Given the description of an element on the screen output the (x, y) to click on. 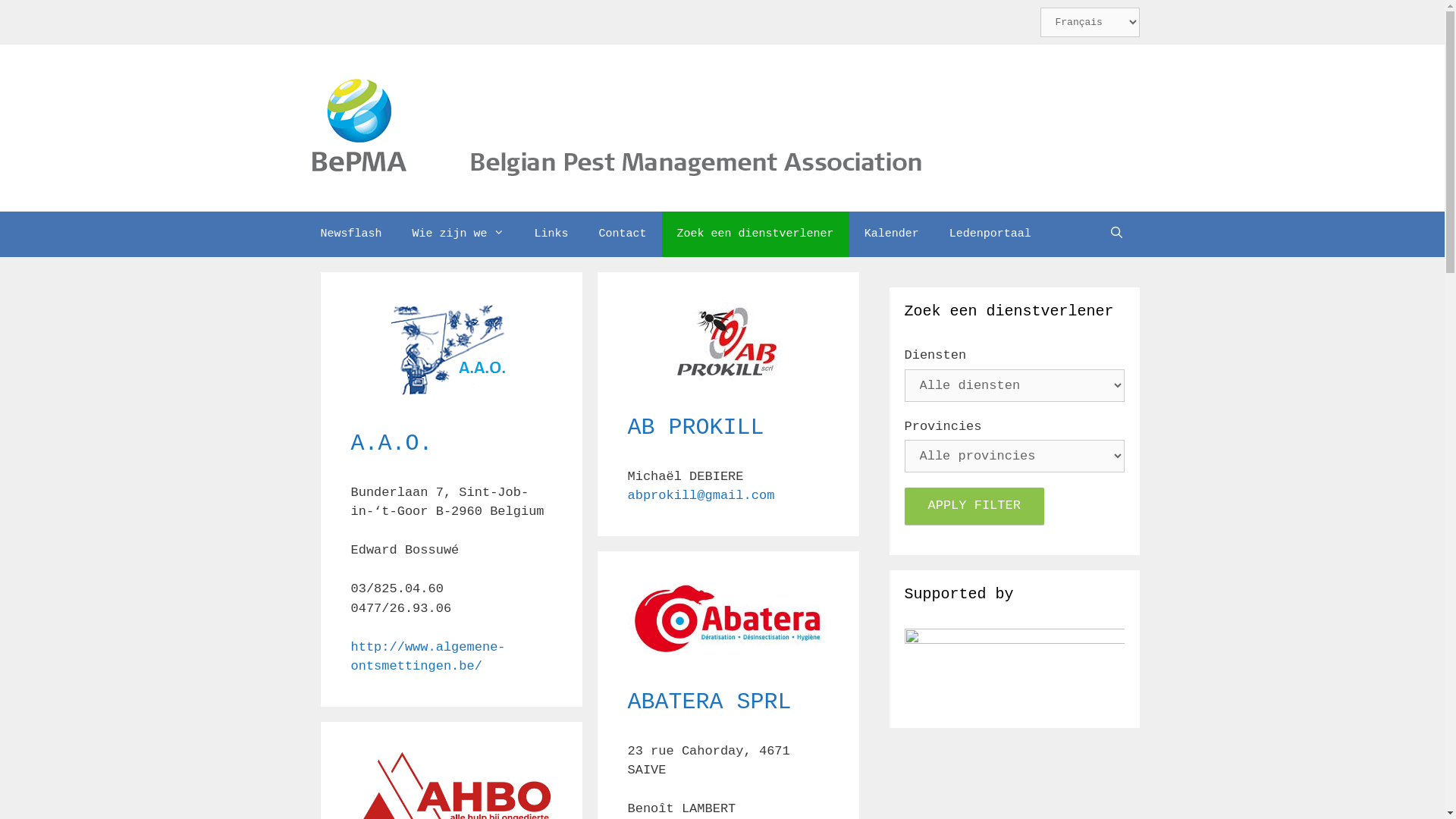
Wie zijn we Element type: text (458, 234)
Newsflash Element type: text (350, 234)
Ledenportaal Element type: text (990, 234)
ABATERA SPRL Element type: text (709, 702)
APPLY FILTER Element type: text (973, 505)
A.A.O. Element type: text (391, 443)
Kalender Element type: text (891, 234)
Contact Element type: text (622, 234)
http://www.algemene-ontsmettingen.be/ Element type: text (427, 657)
abprokill@gmail.com Element type: text (701, 495)
Links Element type: text (551, 234)
AB PROKILL Element type: text (695, 426)
Zoek een dienstverlener Element type: text (755, 234)
